Given the description of an element on the screen output the (x, y) to click on. 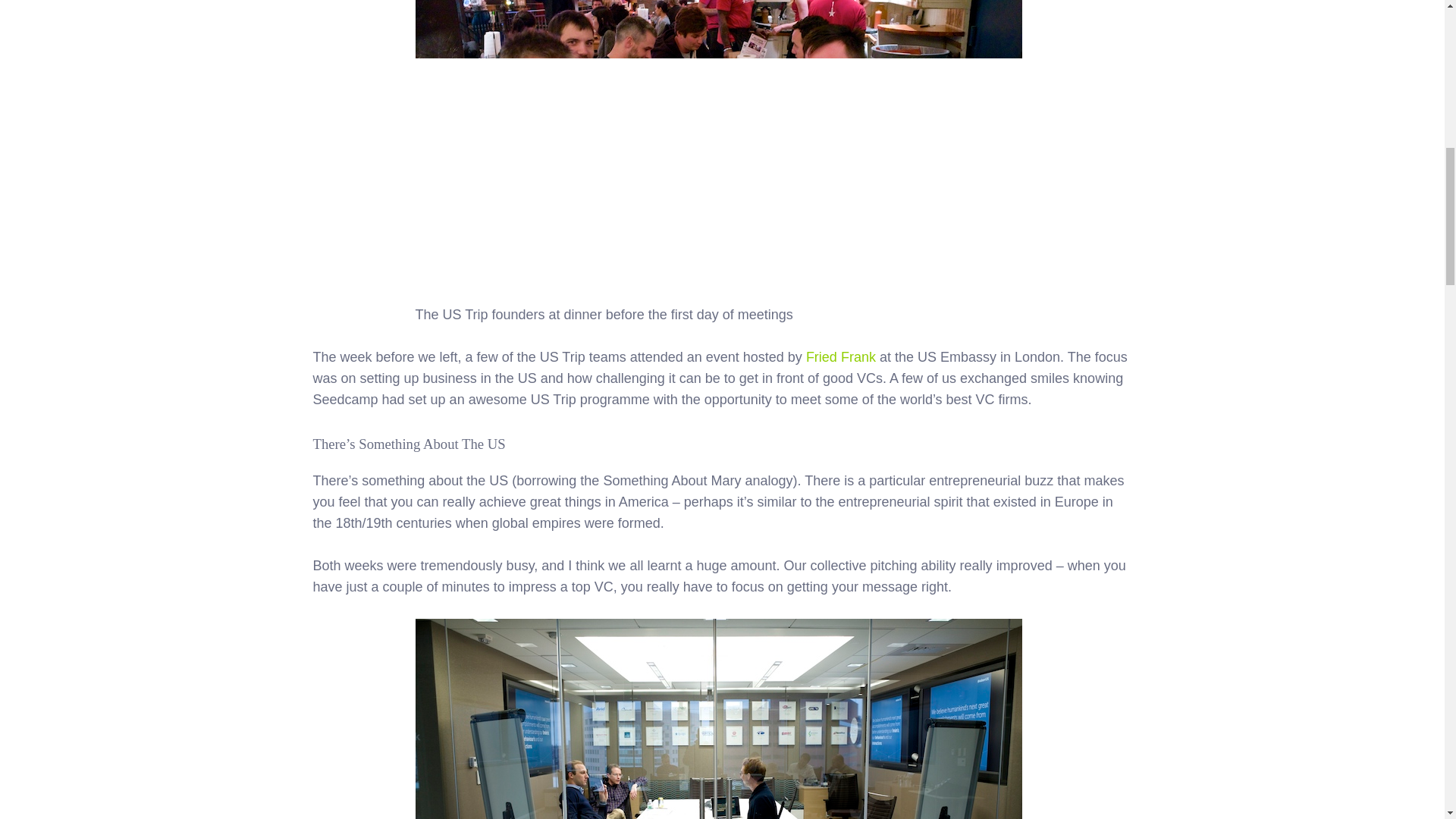
Fried Frank (841, 356)
